Given the description of an element on the screen output the (x, y) to click on. 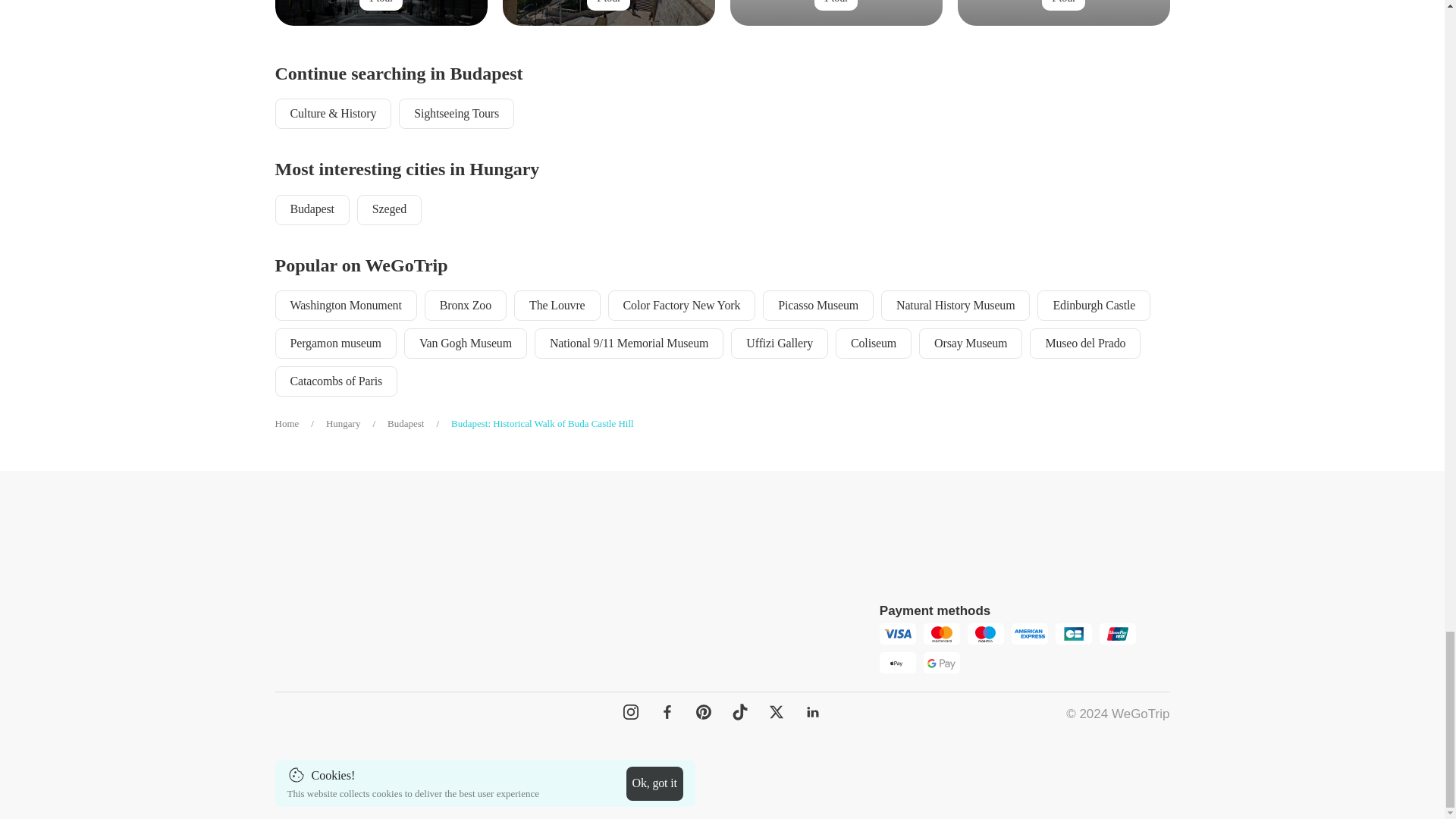
Hungary (356, 423)
Budapest (419, 423)
Budapest: Historical Walk of Buda Castle Hill (542, 423)
Home (299, 423)
